Given the description of an element on the screen output the (x, y) to click on. 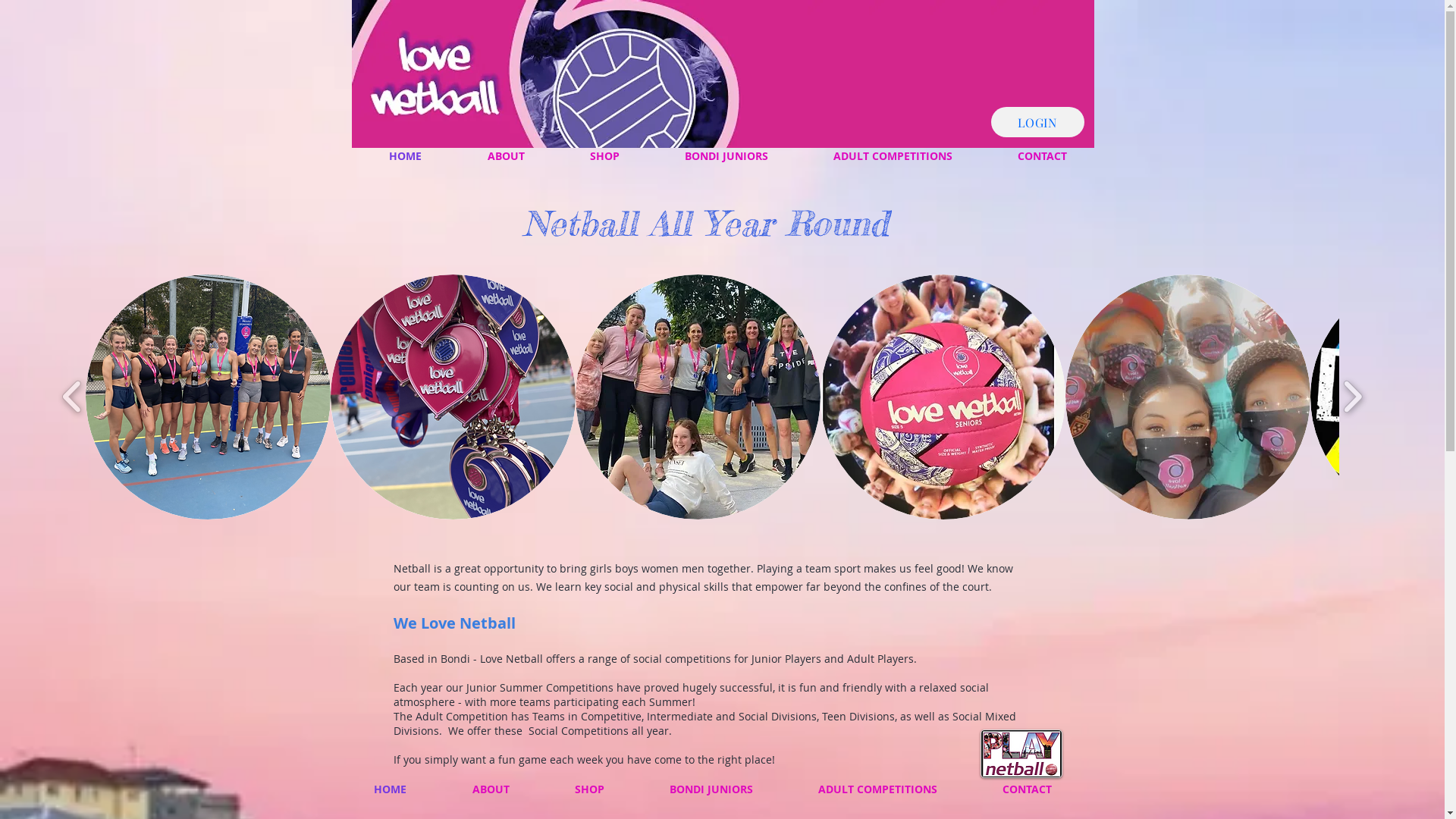
HOME Element type: text (390, 789)
HOME Element type: text (405, 156)
SHOP Element type: text (603, 156)
CONTACT Element type: text (1026, 789)
CONTACT Element type: text (1041, 156)
ABOUT Element type: text (490, 789)
ABOUT Element type: text (506, 156)
ADULT COMPETITIONS Element type: text (877, 789)
BONDI JUNIORS Element type: text (711, 789)
LOGIN Element type: text (1036, 121)
SHOP Element type: text (588, 789)
BONDI JUNIORS Element type: text (726, 156)
ADULT COMPETITIONS Element type: text (892, 156)
